Given the description of an element on the screen output the (x, y) to click on. 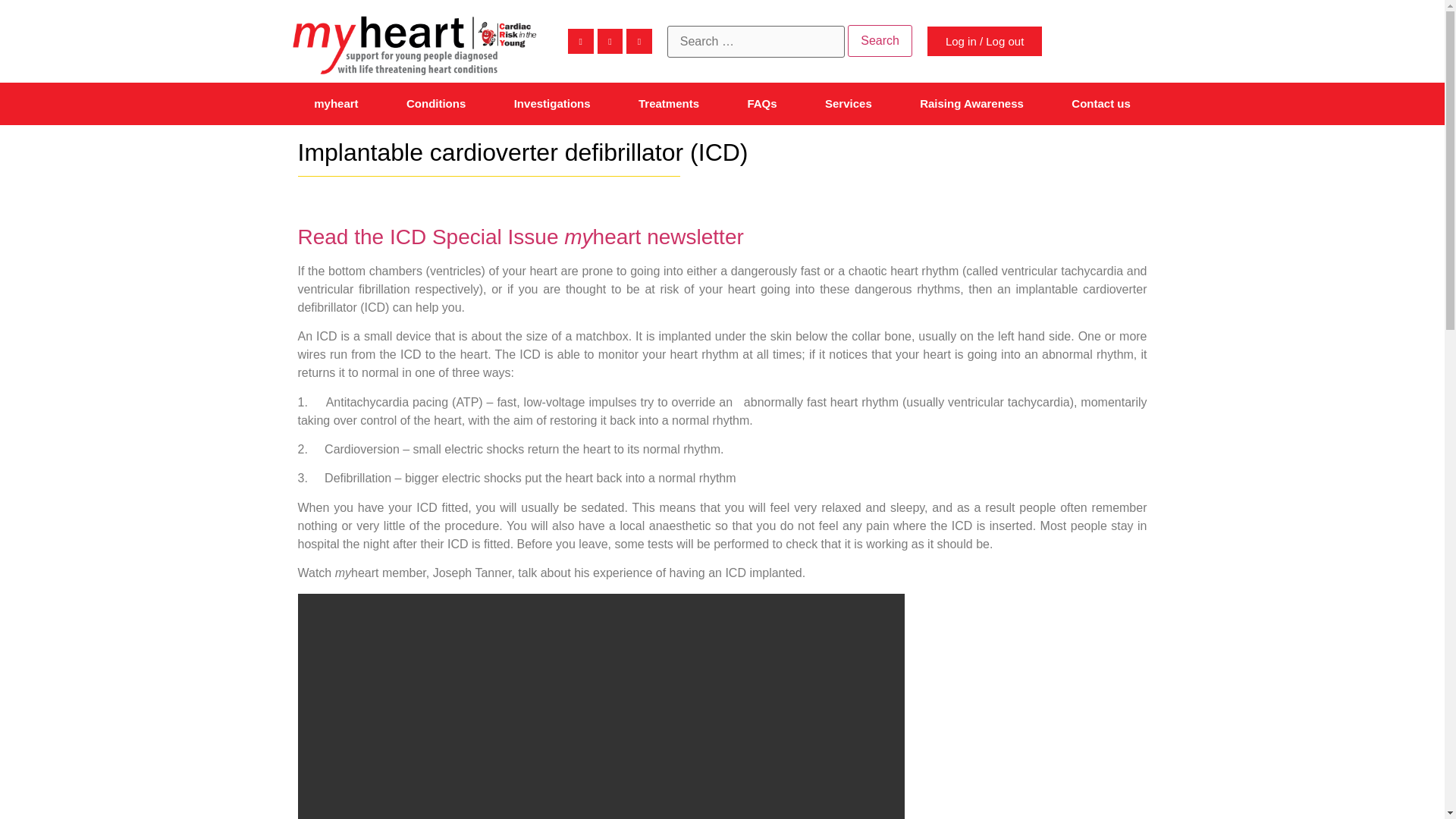
myheart (335, 103)
Contact us (1101, 103)
Newsletter 4 Spring 2011 (519, 236)
Search (879, 40)
FAQs (762, 103)
Search (879, 40)
Investigations (551, 103)
Read the ICD Special Issue myheart newsletter (519, 236)
Search (879, 40)
Raising Awareness (970, 103)
